Given the description of an element on the screen output the (x, y) to click on. 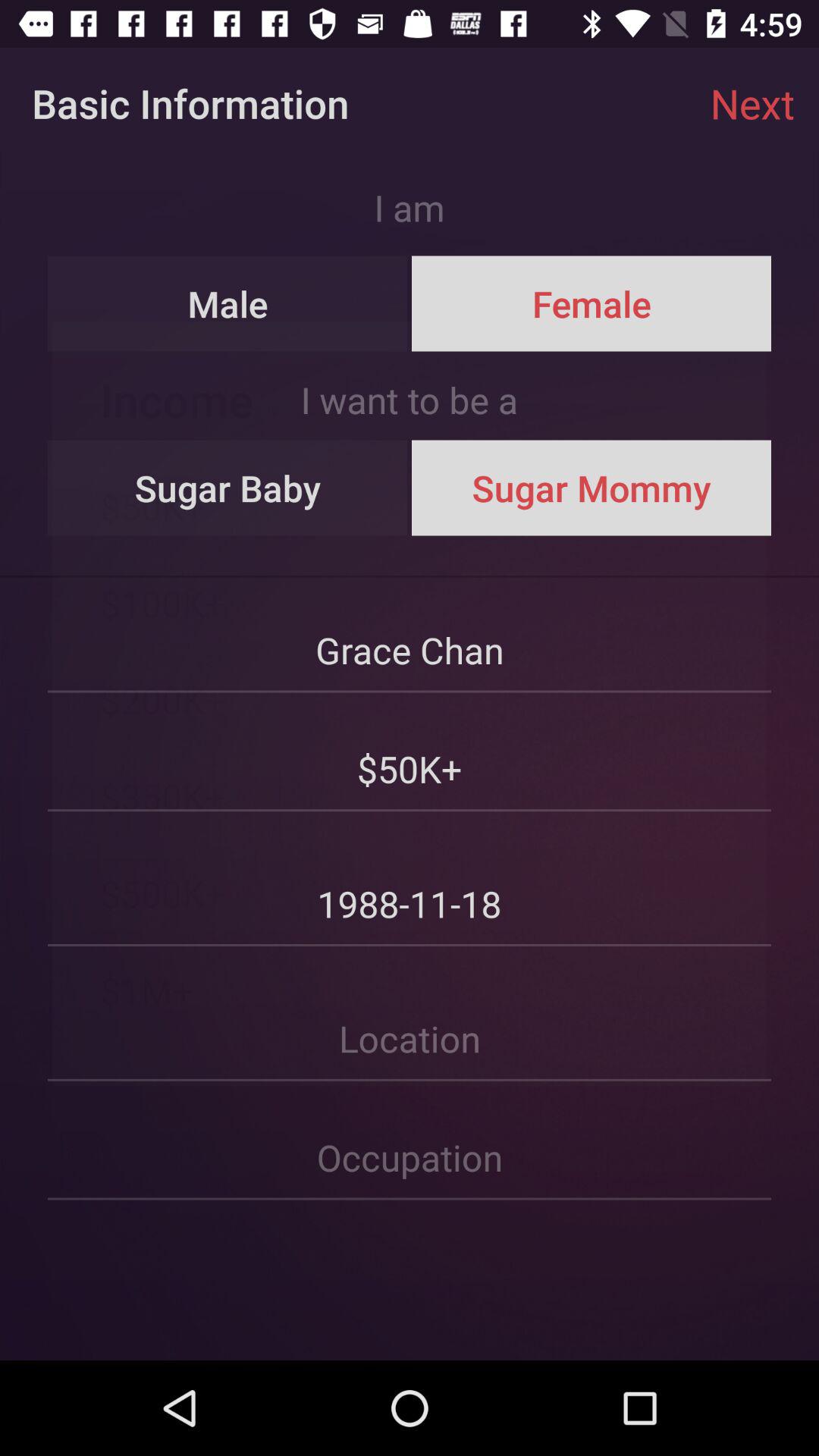
turn on icon next to male (591, 303)
